Given the description of an element on the screen output the (x, y) to click on. 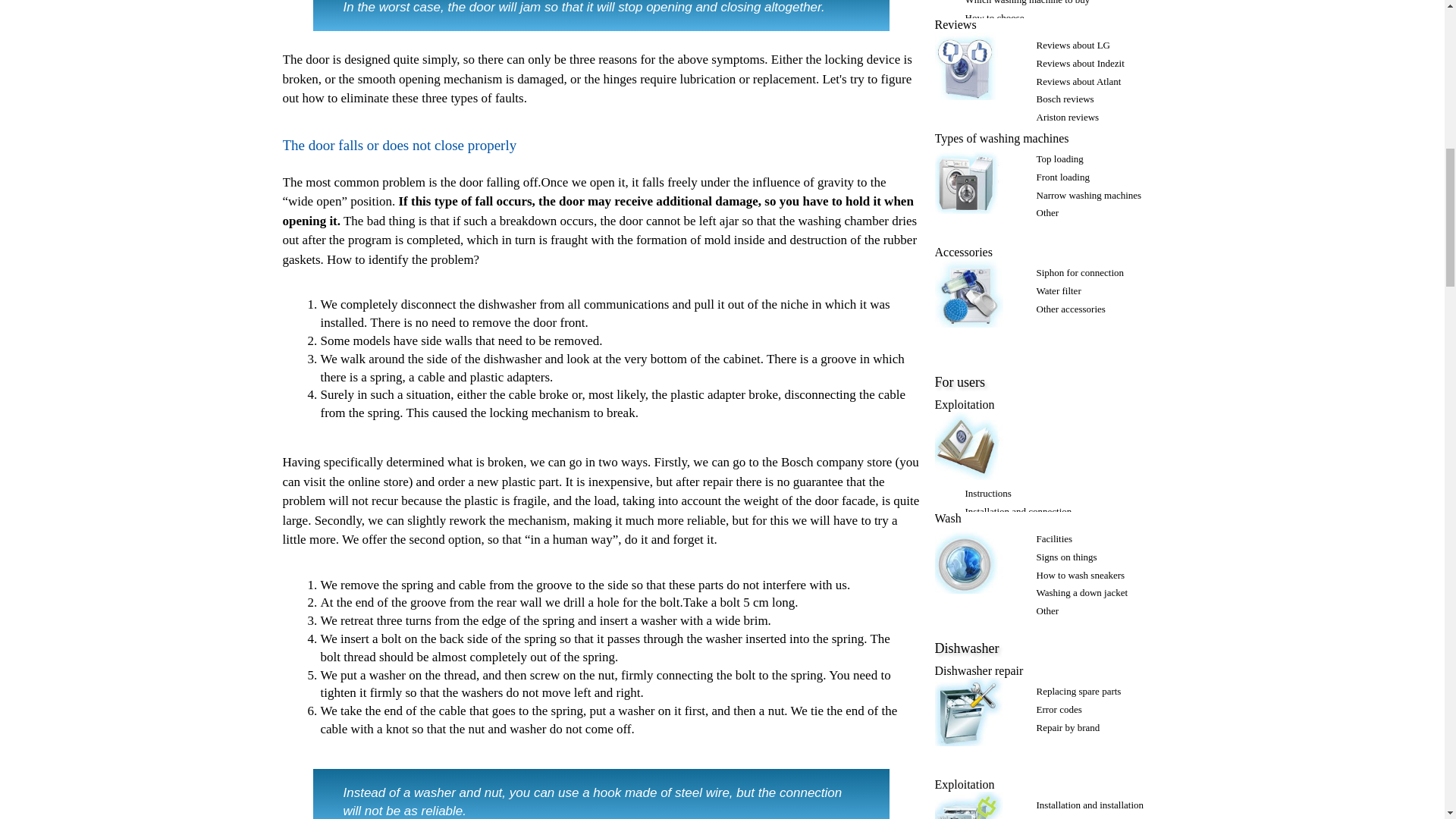
Which washing machine to buy (1026, 2)
